Given the description of an element on the screen output the (x, y) to click on. 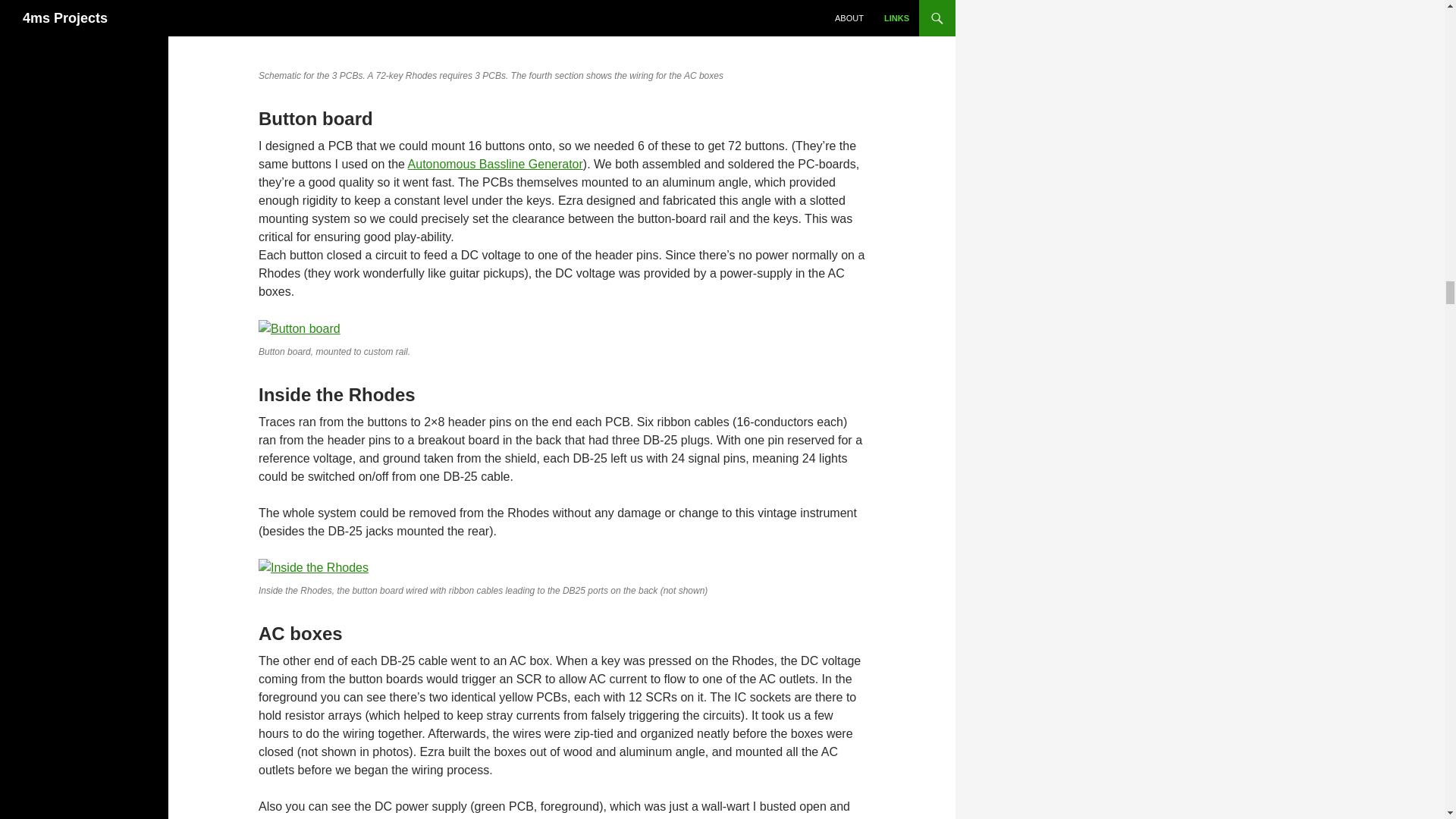
Ribbon cables (313, 567)
Autonomous Bassline Generator (495, 164)
Button board (299, 329)
Schematic (545, 31)
Autonomous Bassline Generator (495, 164)
